Given the description of an element on the screen output the (x, y) to click on. 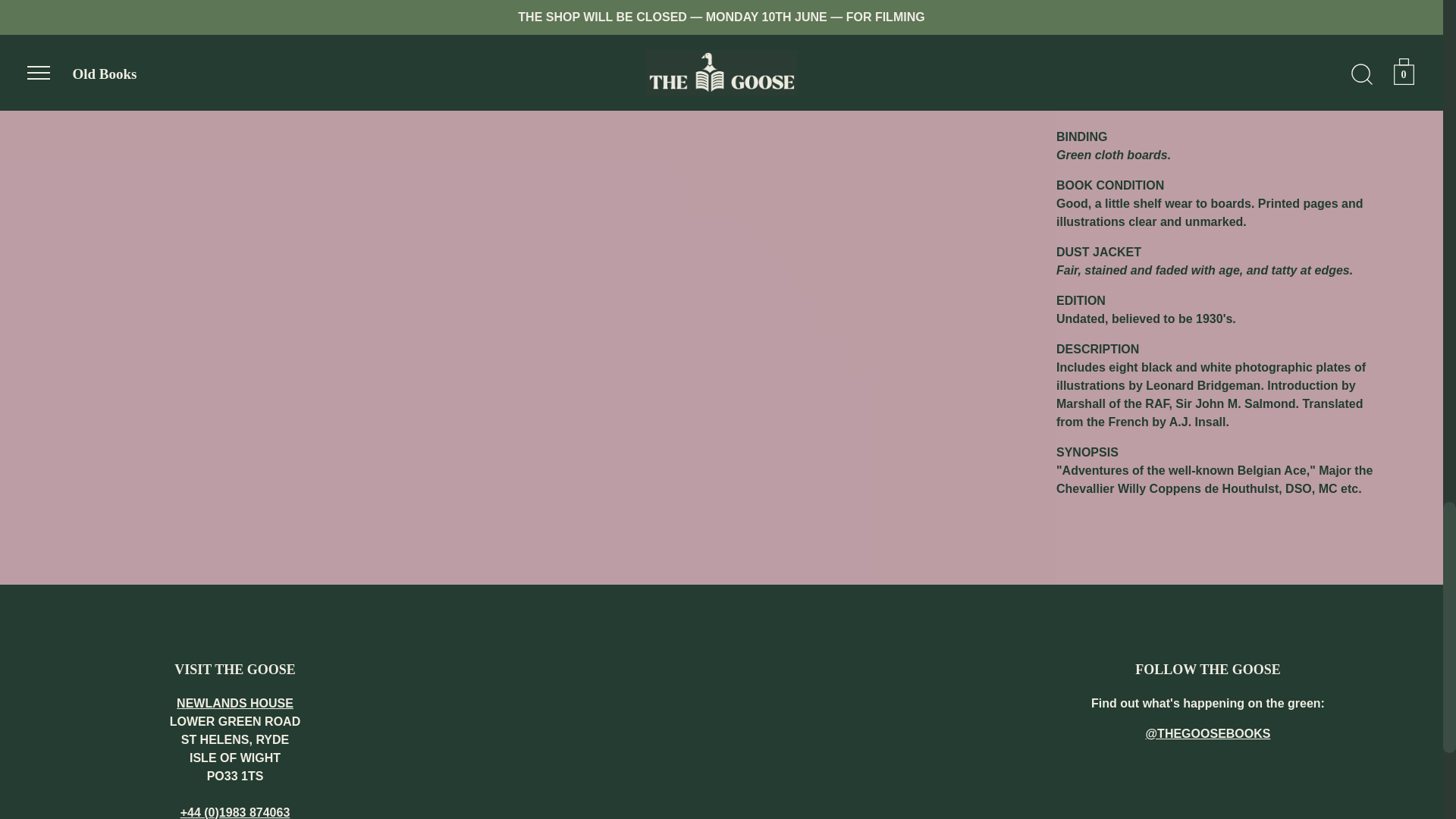
NEWLANDS HOUSE (235, 703)
